Given the description of an element on the screen output the (x, y) to click on. 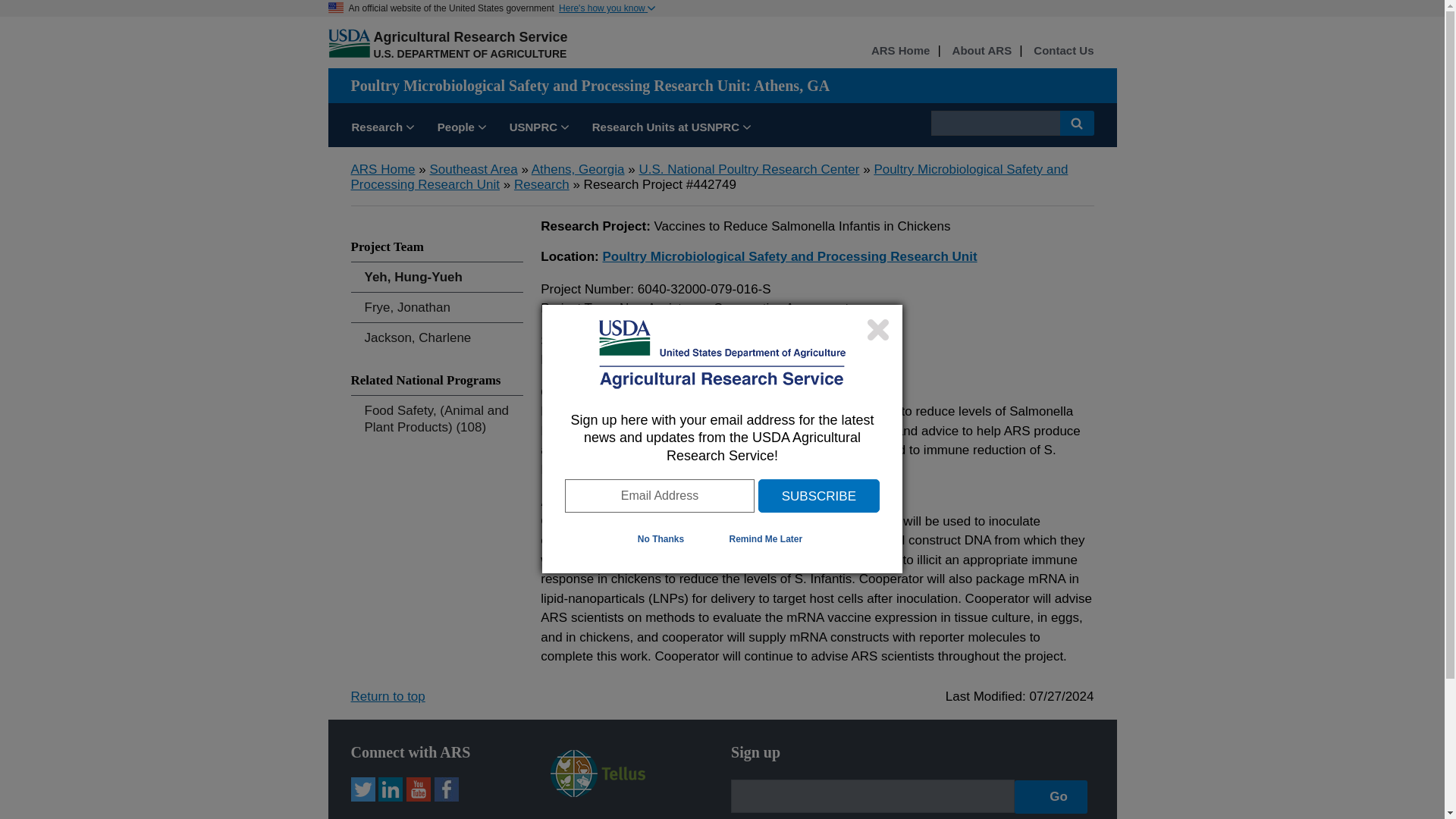
Tellus (597, 792)
USNPRC (538, 128)
Contact Us (1063, 50)
Research (541, 184)
Frye, Jonathan (436, 307)
ARS Home (382, 169)
Email Address (659, 495)
Go (1050, 796)
Athens, Georgia (577, 169)
U.S. DEPARTMENT OF AGRICULTURE Home (469, 53)
ARS Home (900, 50)
search (995, 122)
Poultry Microbiological Safety and Processing Research Unit (708, 176)
Southeast Area (472, 169)
Jackson, Charlene (436, 337)
